Given the description of an element on the screen output the (x, y) to click on. 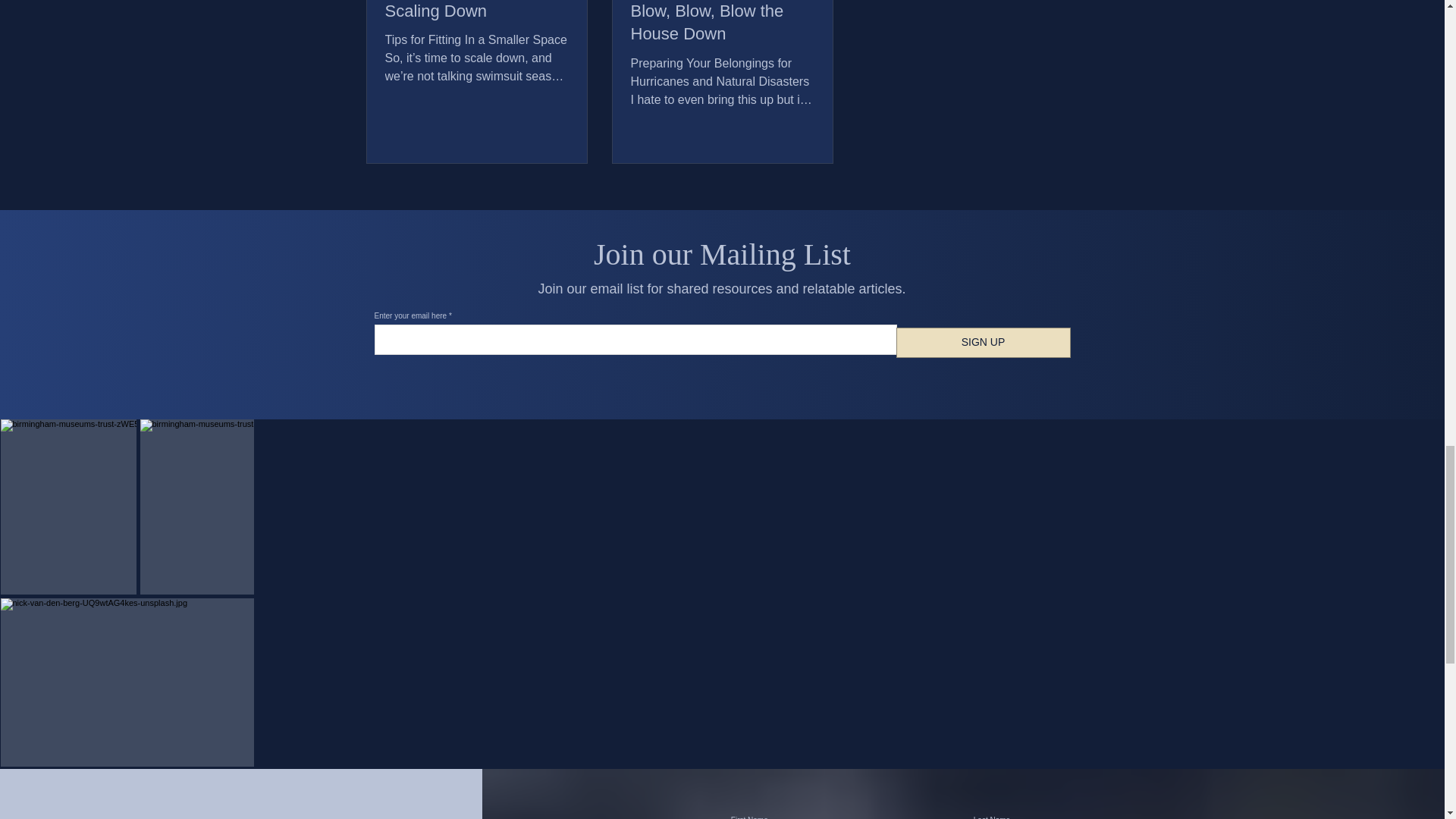
SIGN UP (983, 342)
Blow, Blow, Blow the House Down (721, 23)
Scaling Down (477, 11)
